Given the description of an element on the screen output the (x, y) to click on. 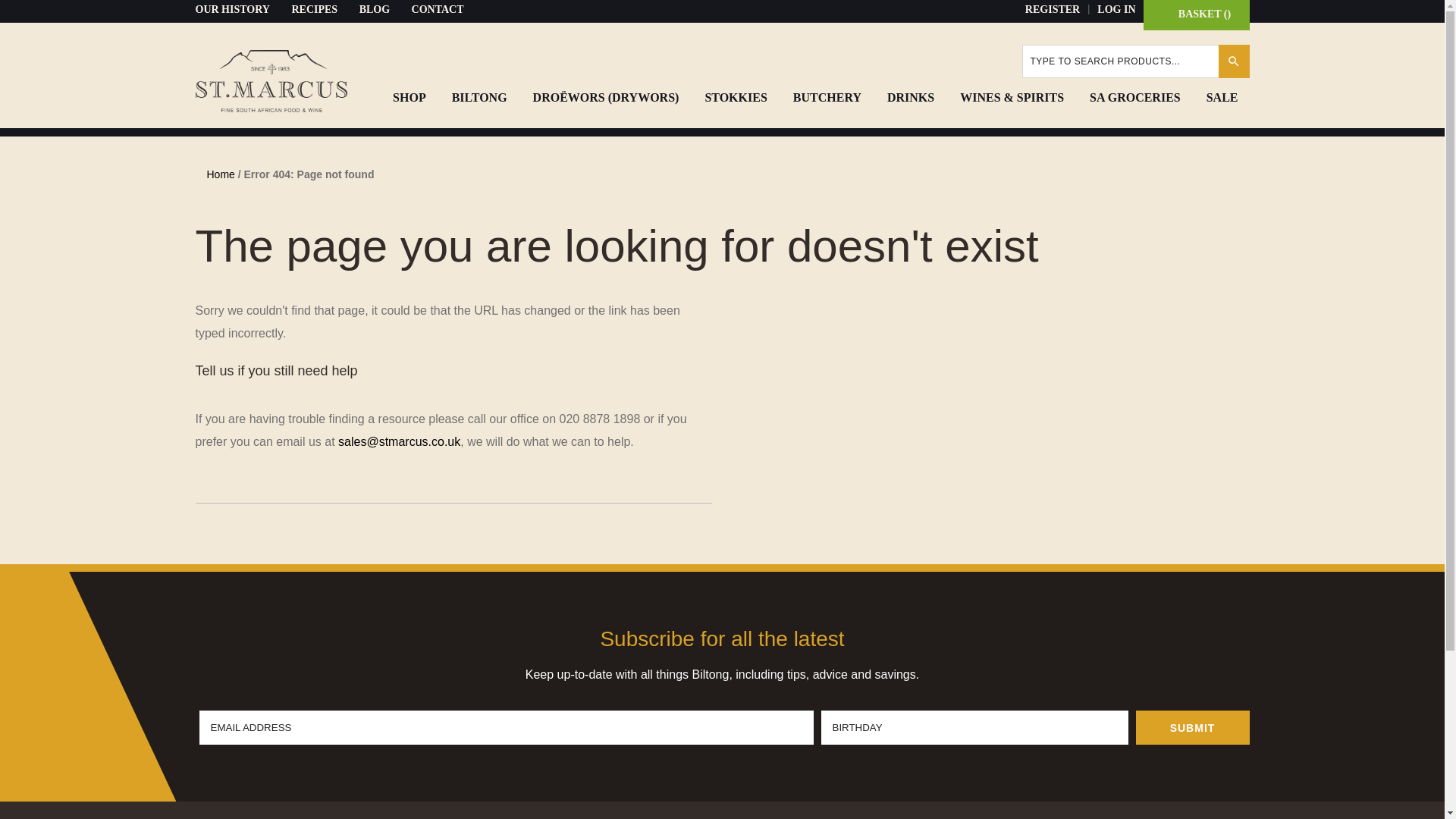
STOKKIES (735, 97)
BILTONG (479, 97)
SALE (1222, 97)
RECIPES (314, 9)
Home (220, 174)
REGISTER (1052, 9)
OUR HISTORY (232, 9)
BLOG (374, 9)
SHOP (409, 97)
SA GROCERIES (1135, 97)
